Given the description of an element on the screen output the (x, y) to click on. 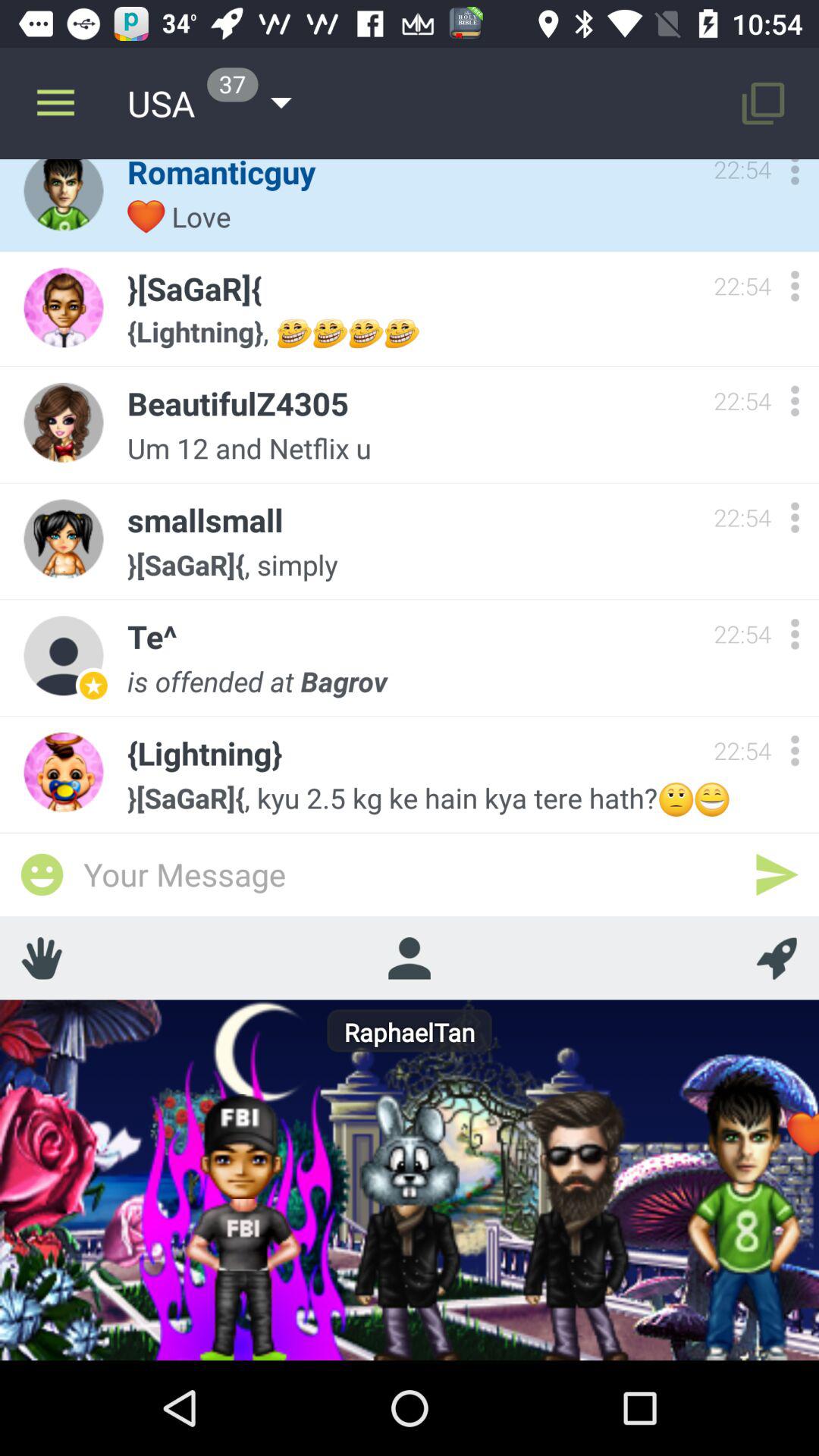
click for options (795, 517)
